Given the description of an element on the screen output the (x, y) to click on. 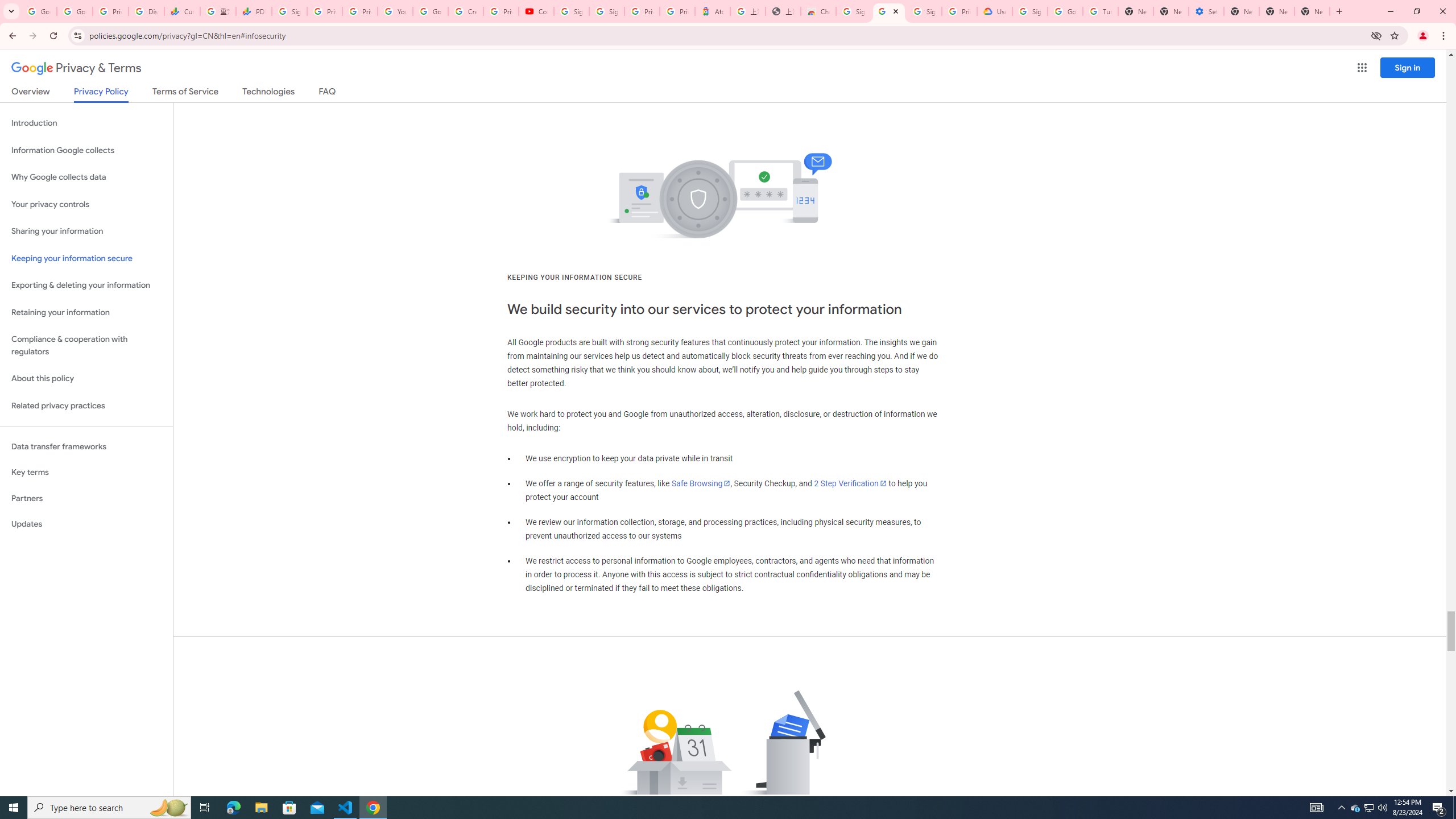
Privacy Checkup (359, 11)
Safe Browsing (700, 483)
Sign in - Google Accounts (923, 11)
Compliance & cooperation with regulators (86, 345)
